Given the description of an element on the screen output the (x, y) to click on. 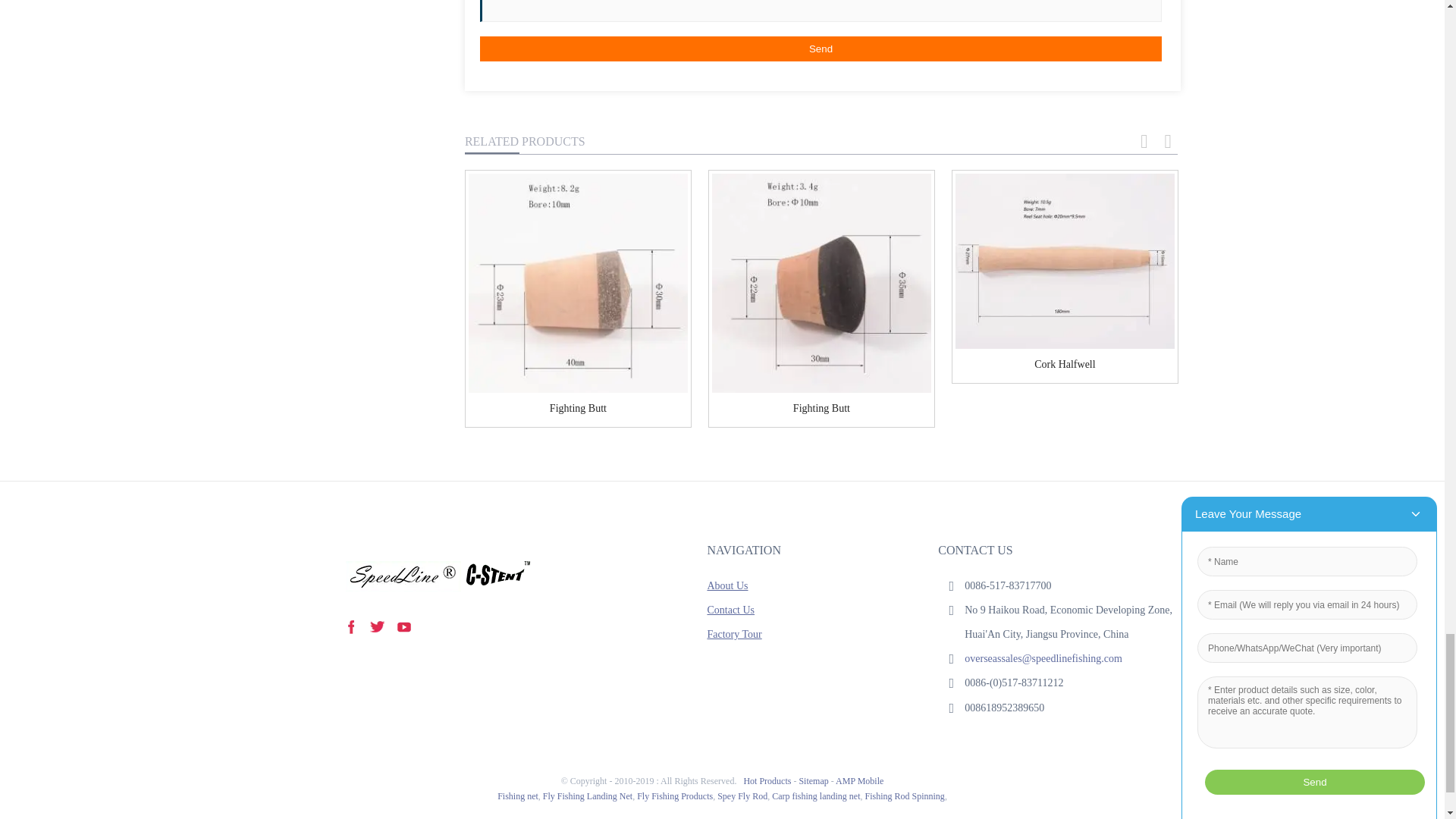
Fighting Butt (821, 283)
Fighting Butt (577, 283)
Cork Halfwell (1064, 260)
Fighting Butt (578, 408)
Cork Halfwell (1063, 364)
Fighting Butt (821, 408)
